Given the description of an element on the screen output the (x, y) to click on. 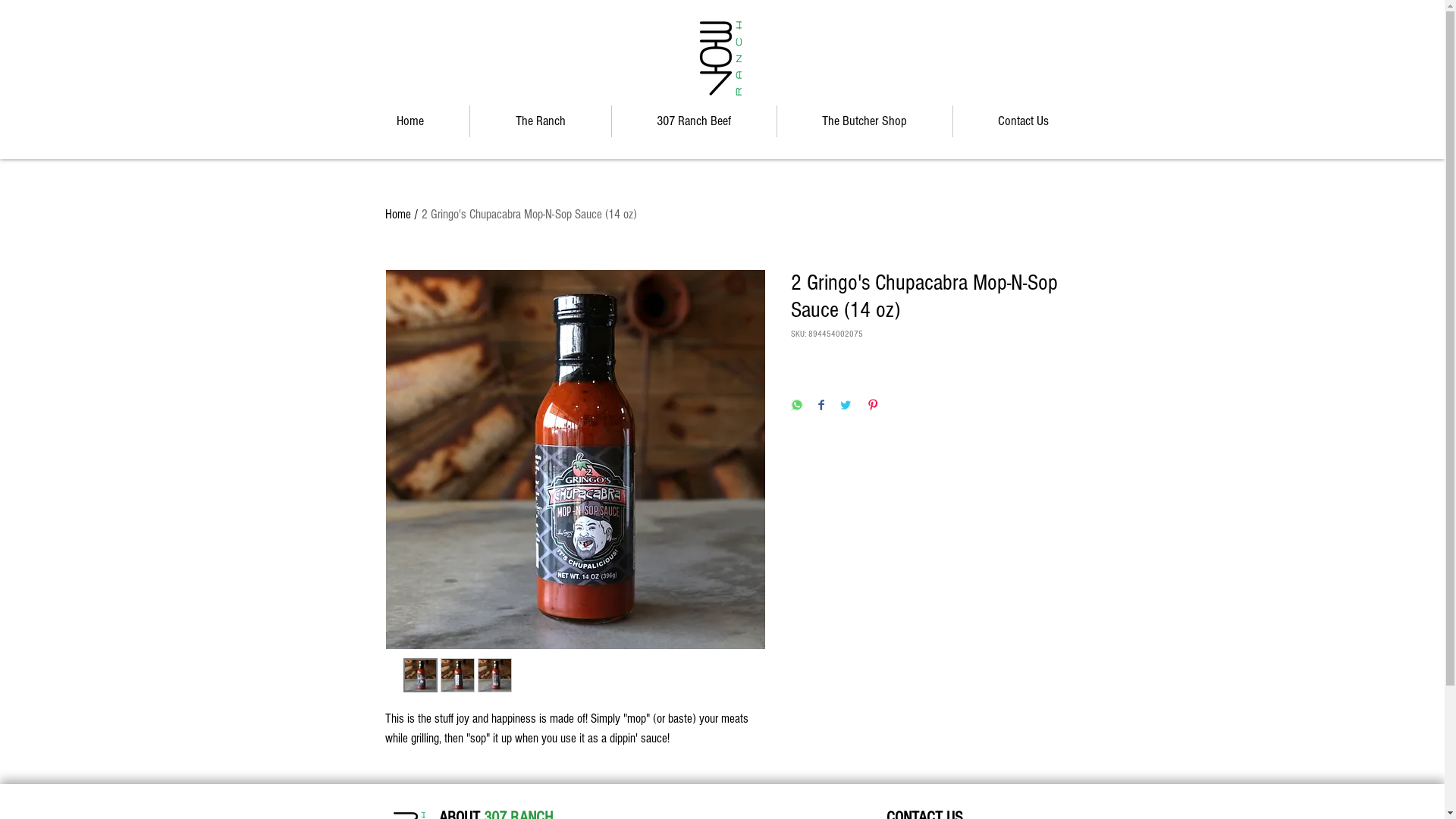
Home Element type: text (398, 214)
Contact Us Element type: text (1022, 121)
2 Gringo's Chupacabra Mop-N-Sop Sauce (14 oz) Element type: text (529, 214)
307 Ranch Beef Element type: text (693, 121)
The Ranch Element type: text (540, 121)
The Butcher Shop Element type: text (863, 121)
Home Element type: text (409, 121)
